Given the description of an element on the screen output the (x, y) to click on. 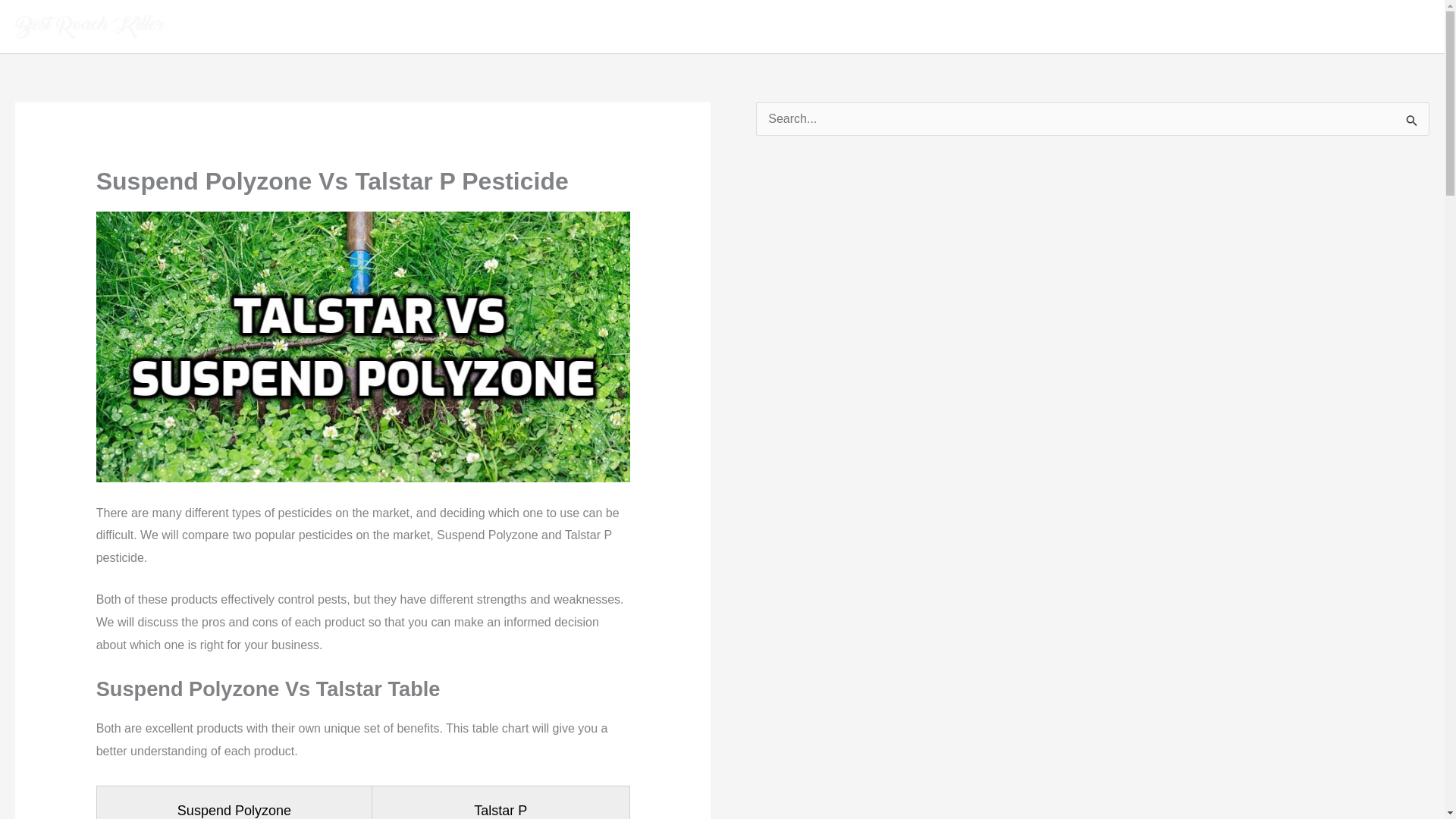
Home Remedies (1284, 26)
Pet Safe (1192, 26)
Roach Blog (1385, 26)
Product Review (1102, 26)
